Given the description of an element on the screen output the (x, y) to click on. 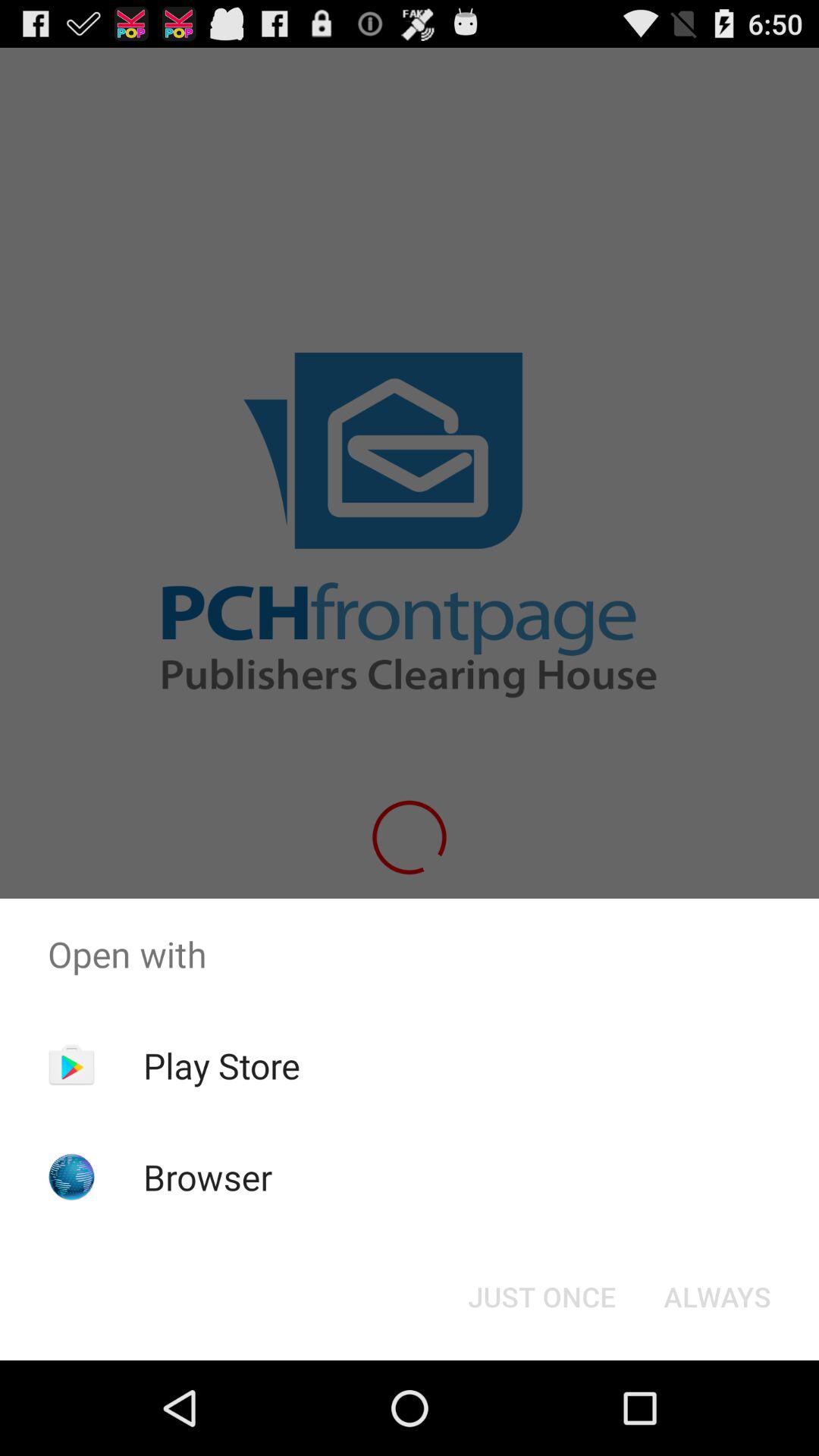
flip to the just once item (541, 1296)
